Given the description of an element on the screen output the (x, y) to click on. 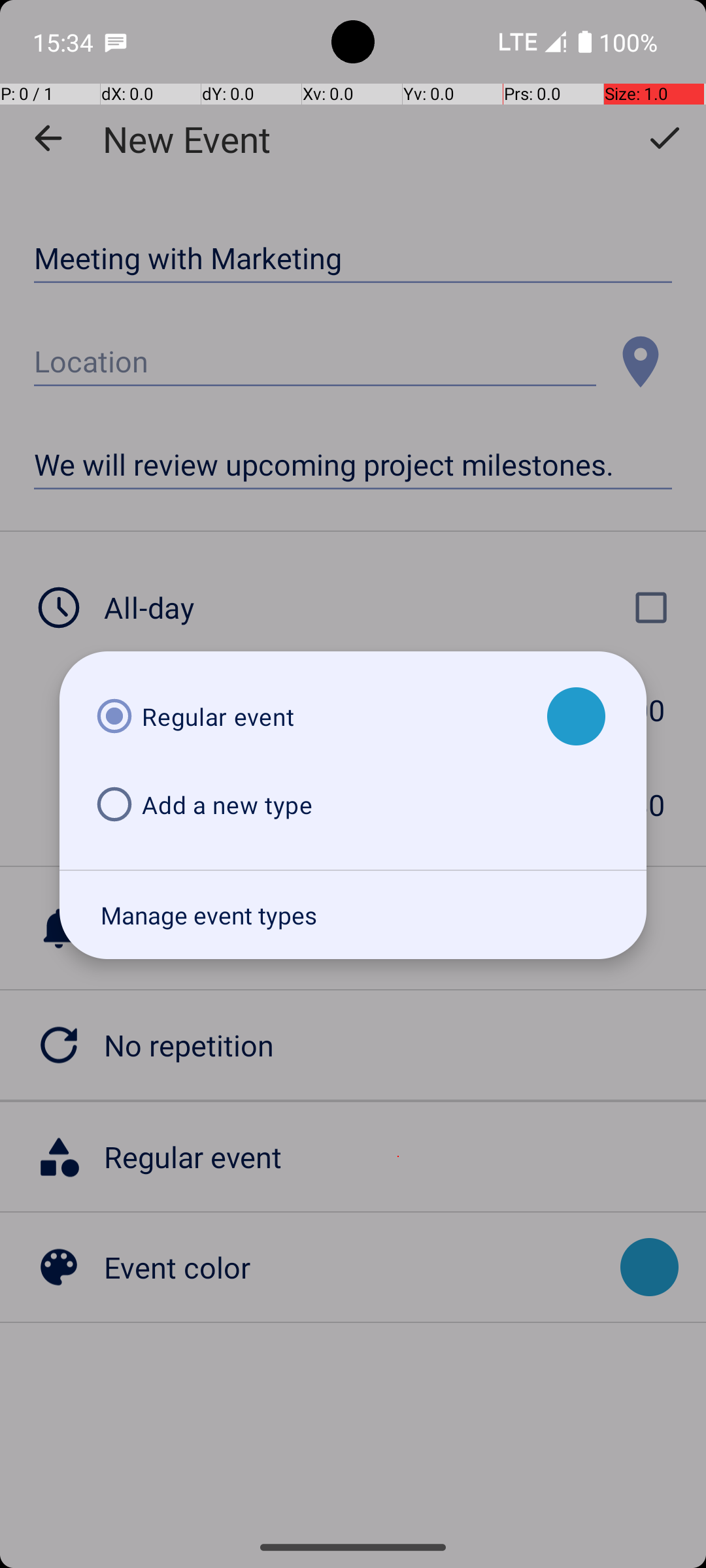
Add a new type Element type: android.widget.RadioButton (309, 804)
